Given the description of an element on the screen output the (x, y) to click on. 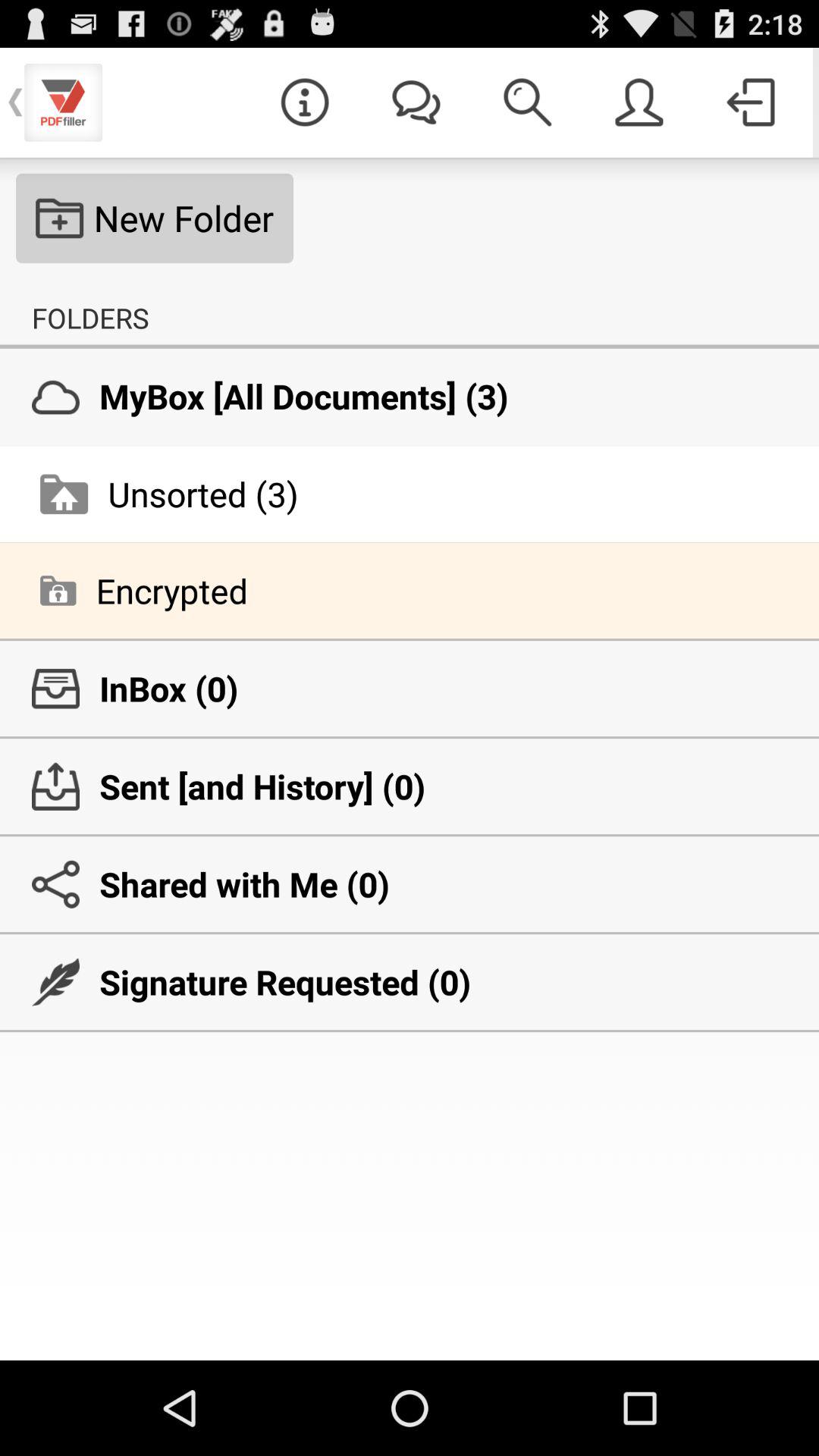
turn on new folder button (154, 218)
